Given the description of an element on the screen output the (x, y) to click on. 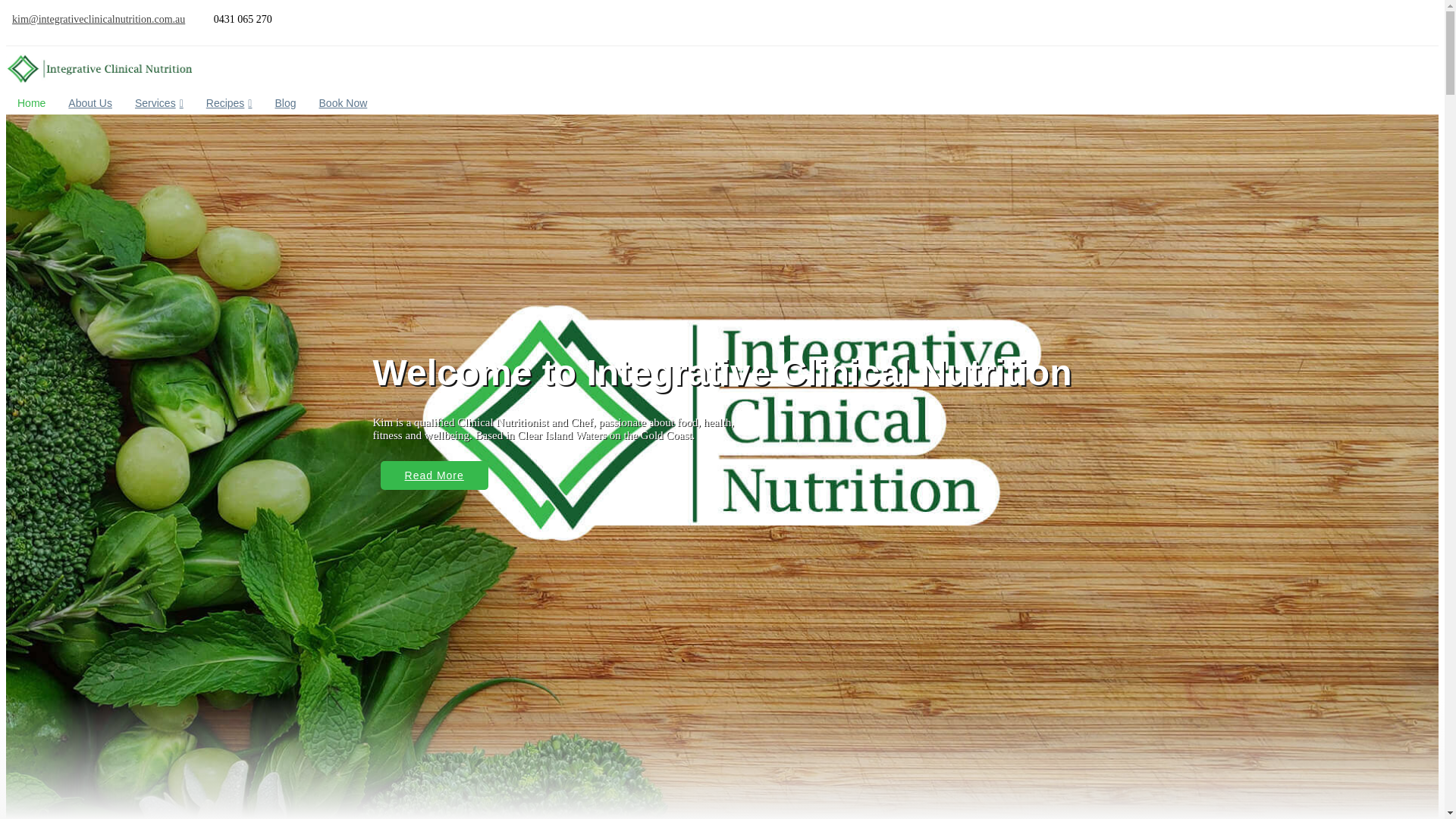
Blog Element type: text (285, 102)
About Us Element type: text (89, 102)
Home Element type: text (31, 103)
Recipes Element type: text (228, 103)
Book Now Element type: text (343, 102)
kim@integrativeclinicalnutrition.com.au Element type: text (98, 19)
Services Element type: text (158, 103)
Read More Element type: text (434, 475)
